Given the description of an element on the screen output the (x, y) to click on. 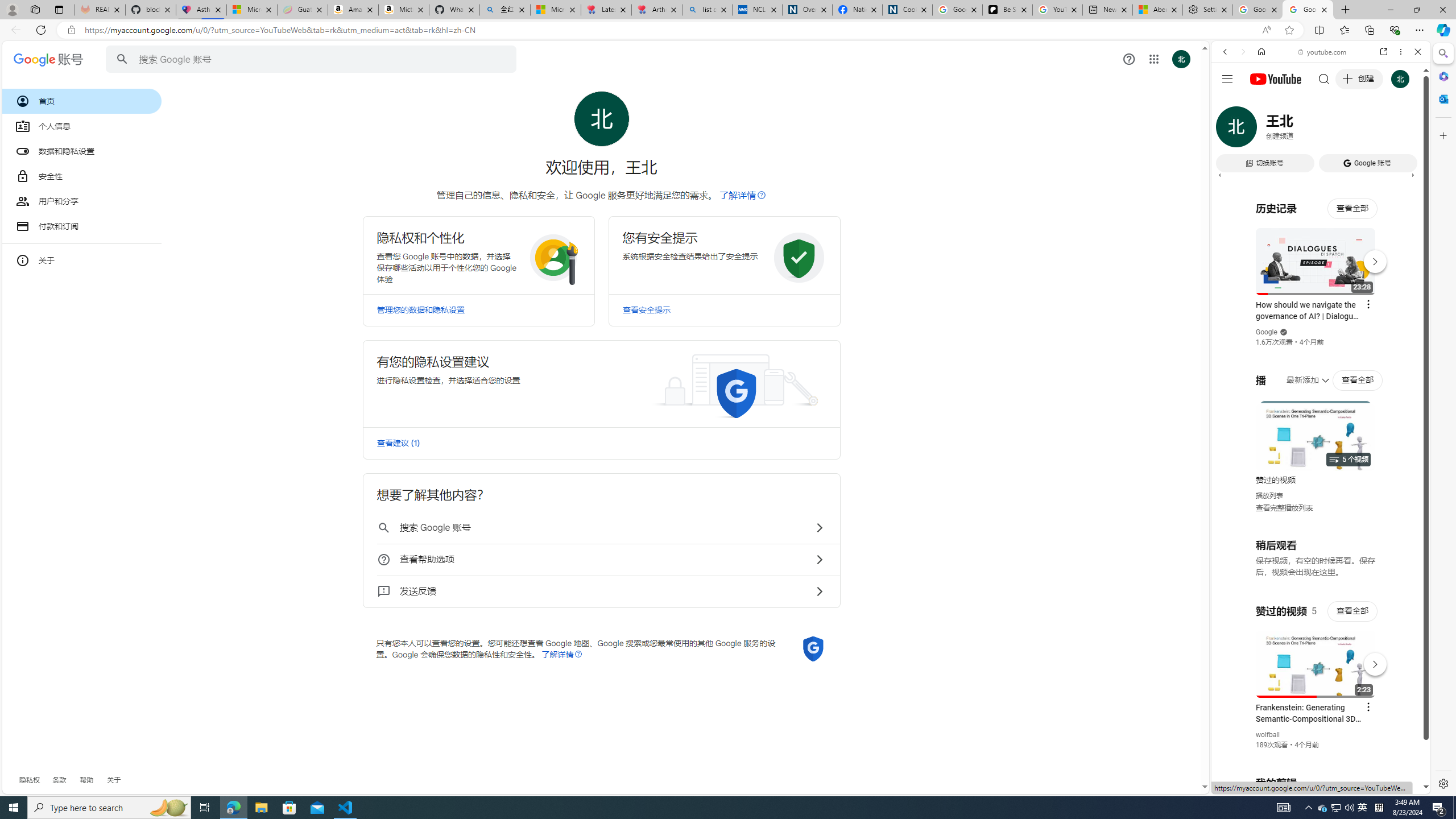
Class: gb_E (1153, 59)
Trailer #2 [HD] (1320, 337)
